Given the description of an element on the screen output the (x, y) to click on. 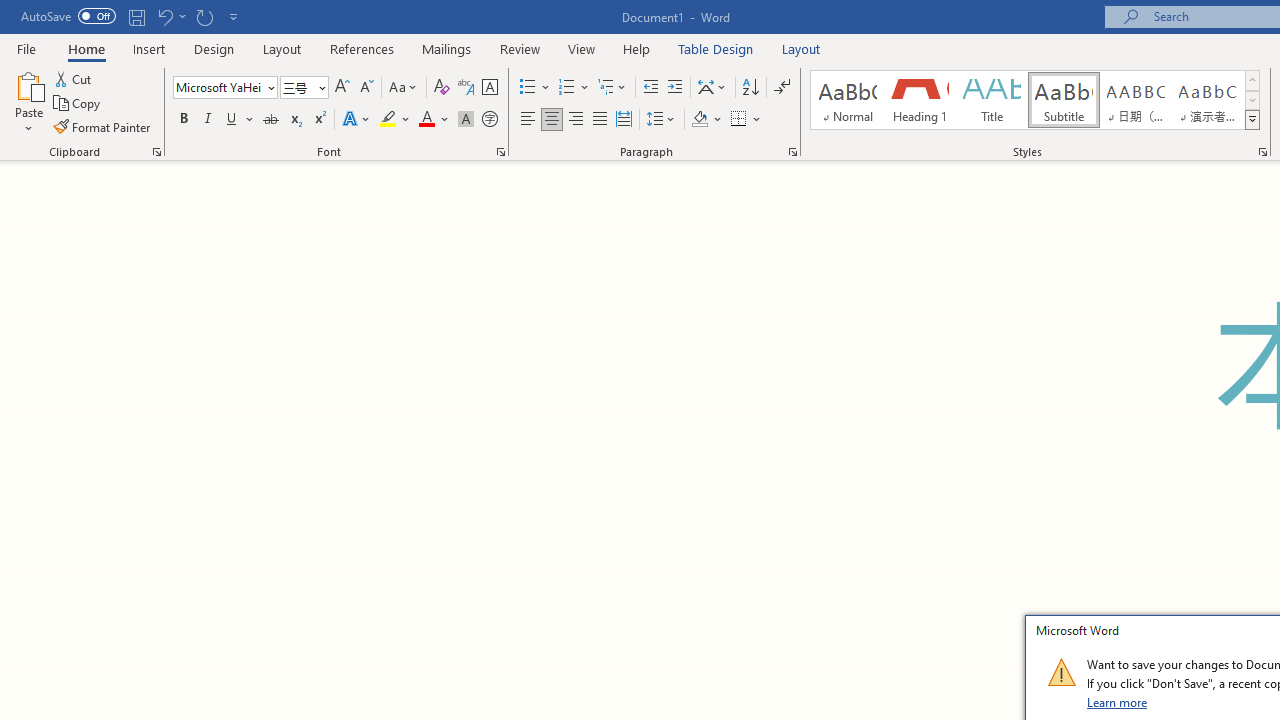
Underline (239, 119)
Font Size (304, 87)
Strikethrough (270, 119)
Repeat Doc Close (204, 15)
Styles... (1262, 151)
Show/Hide Editing Marks (781, 87)
Phonetic Guide... (465, 87)
Row up (1252, 79)
Paste (28, 102)
Home (86, 48)
Insert (149, 48)
Text Highlight Color Yellow (388, 119)
AutomationID: QuickStylesGallery (1035, 99)
Styles (1252, 120)
